Given the description of an element on the screen output the (x, y) to click on. 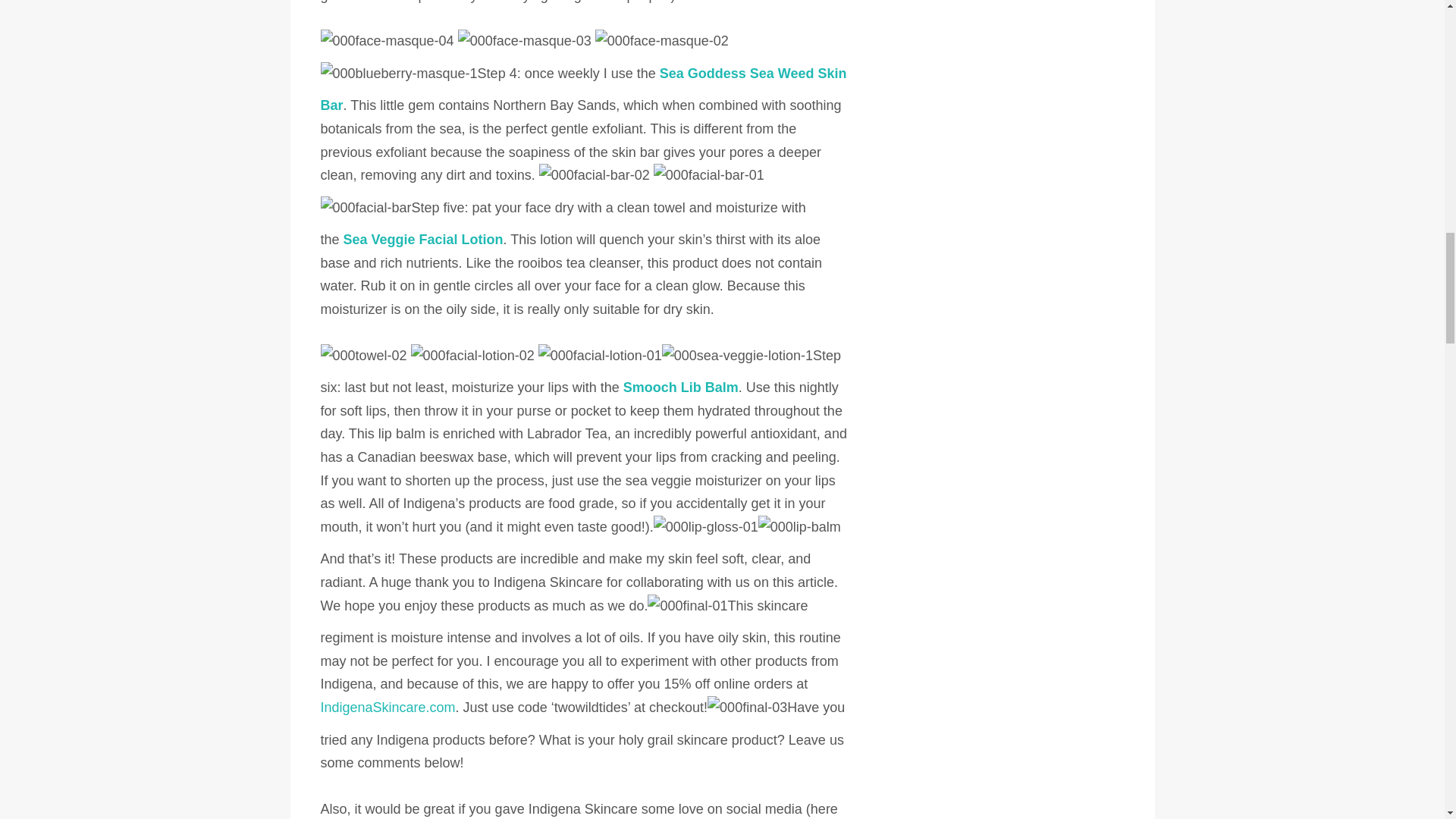
Smooch Lib Balm (680, 387)
IndigenaSkincare.com (387, 707)
Sea Goddess Sea Weed Skin Bar (582, 89)
Sea Veggie Facial Lotion (423, 239)
